Given the description of an element on the screen output the (x, y) to click on. 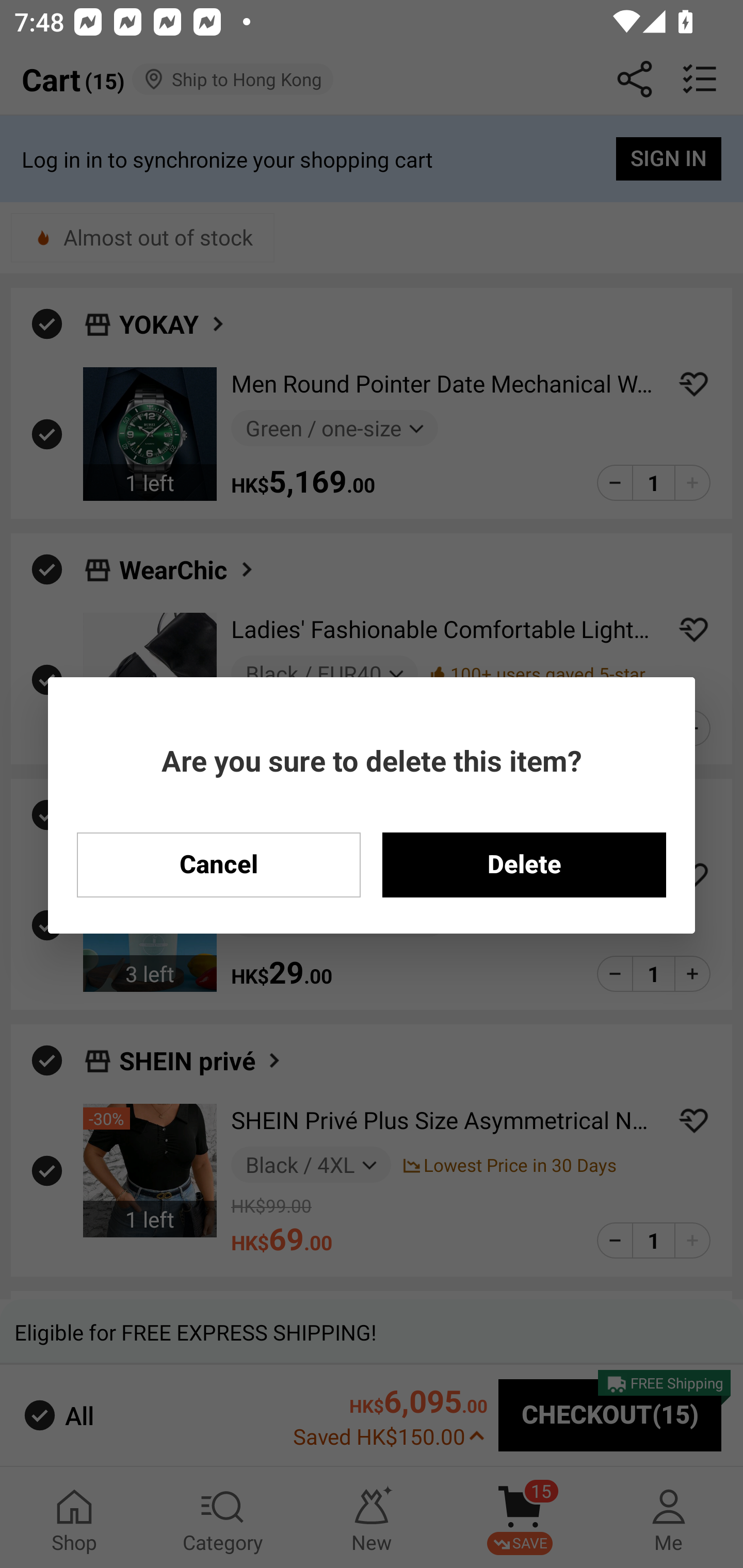
Are you sure to delete this item? (371, 760)
Cancel (218, 864)
Delete (524, 864)
